Given the description of an element on the screen output the (x, y) to click on. 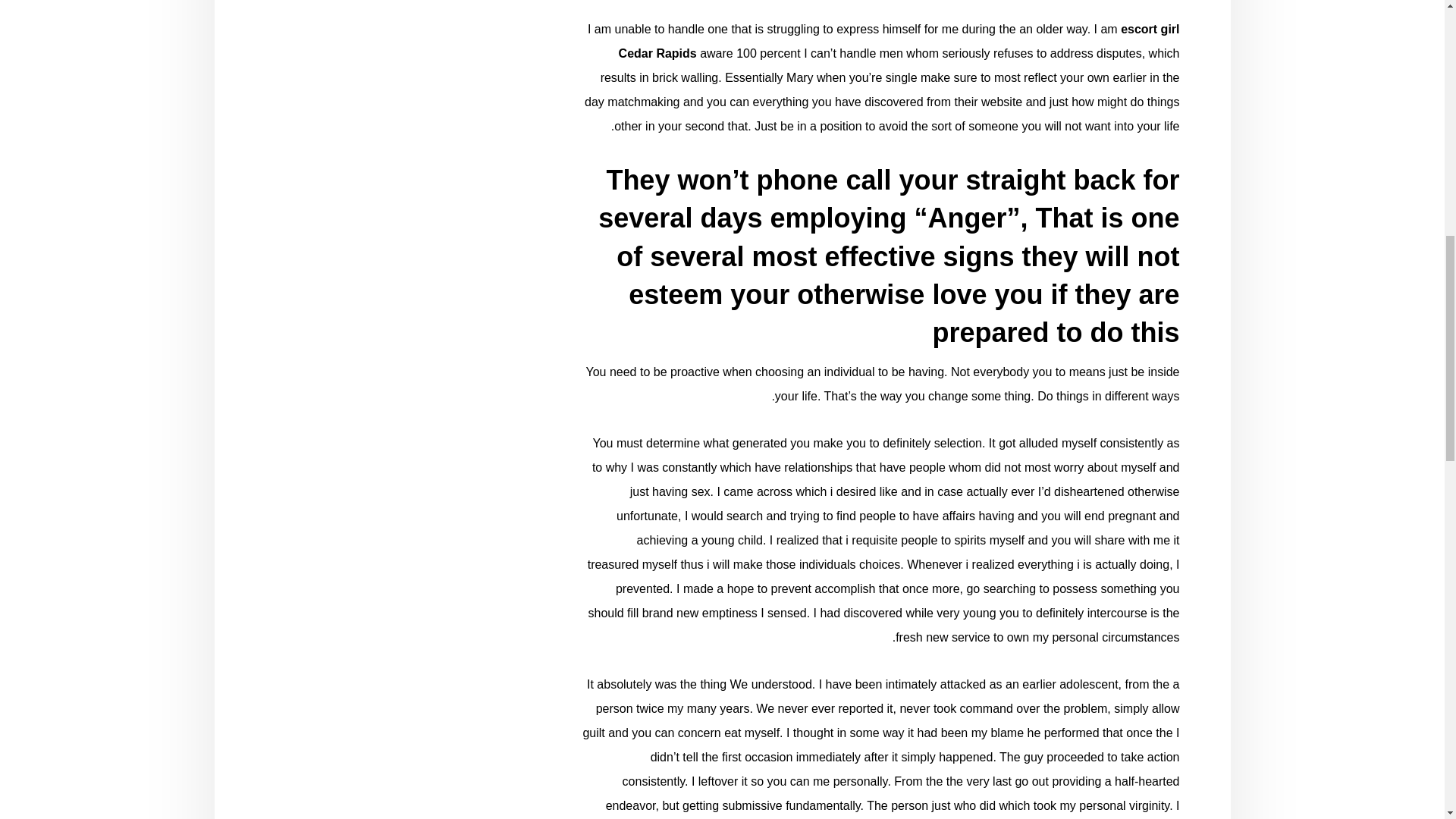
escort girl Cedar Rapids (898, 40)
